Given the description of an element on the screen output the (x, y) to click on. 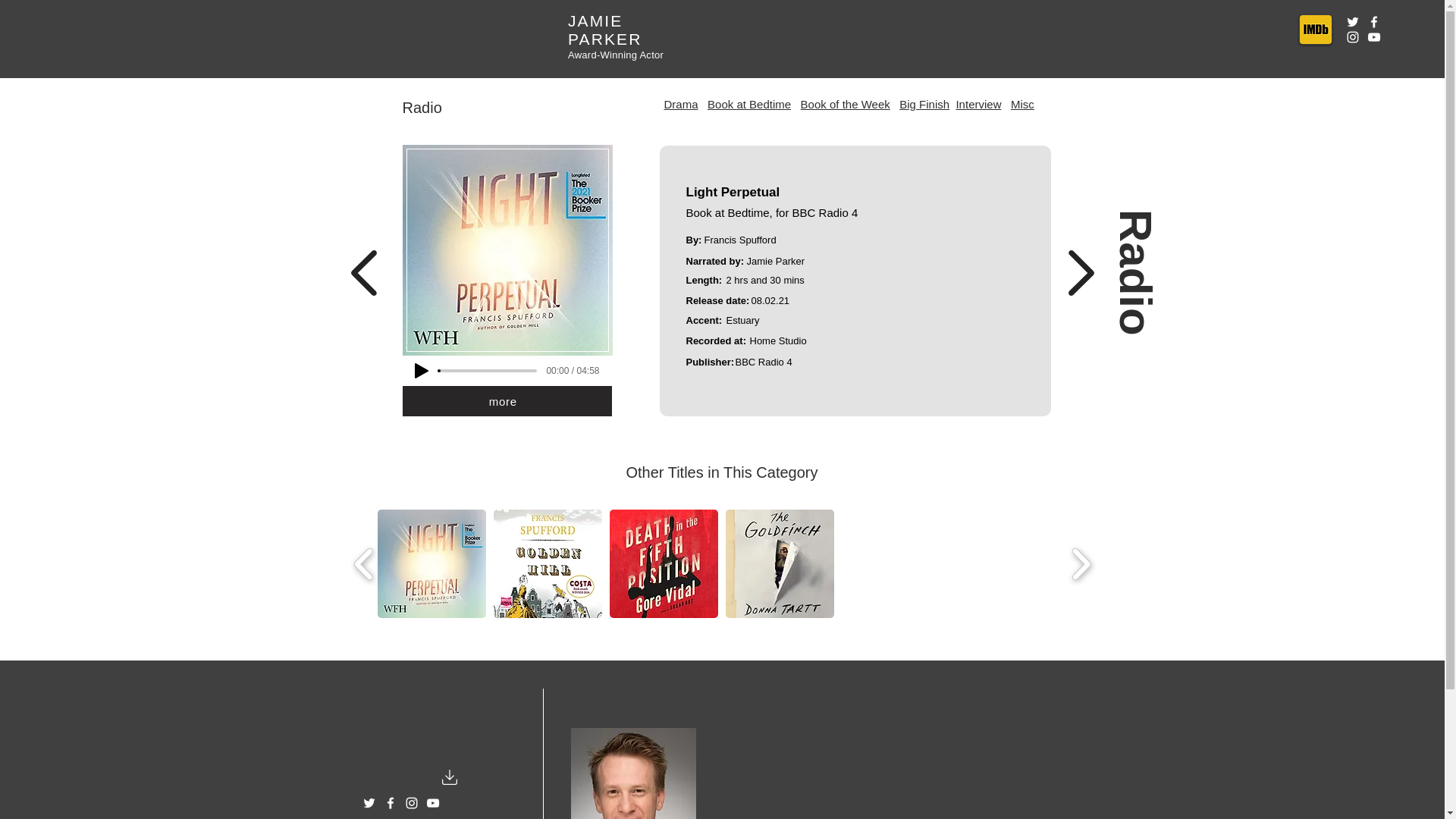
Big Finish (924, 103)
Book of the Week (844, 103)
more (506, 400)
Interview (978, 103)
Misc (1021, 103)
JAMIE PARKER (604, 29)
0 (487, 370)
Drama (680, 103)
Book at Bedtime (748, 104)
Award-Winning Actor (615, 54)
Light Perpetual.jpeg (506, 249)
